Given the description of an element on the screen output the (x, y) to click on. 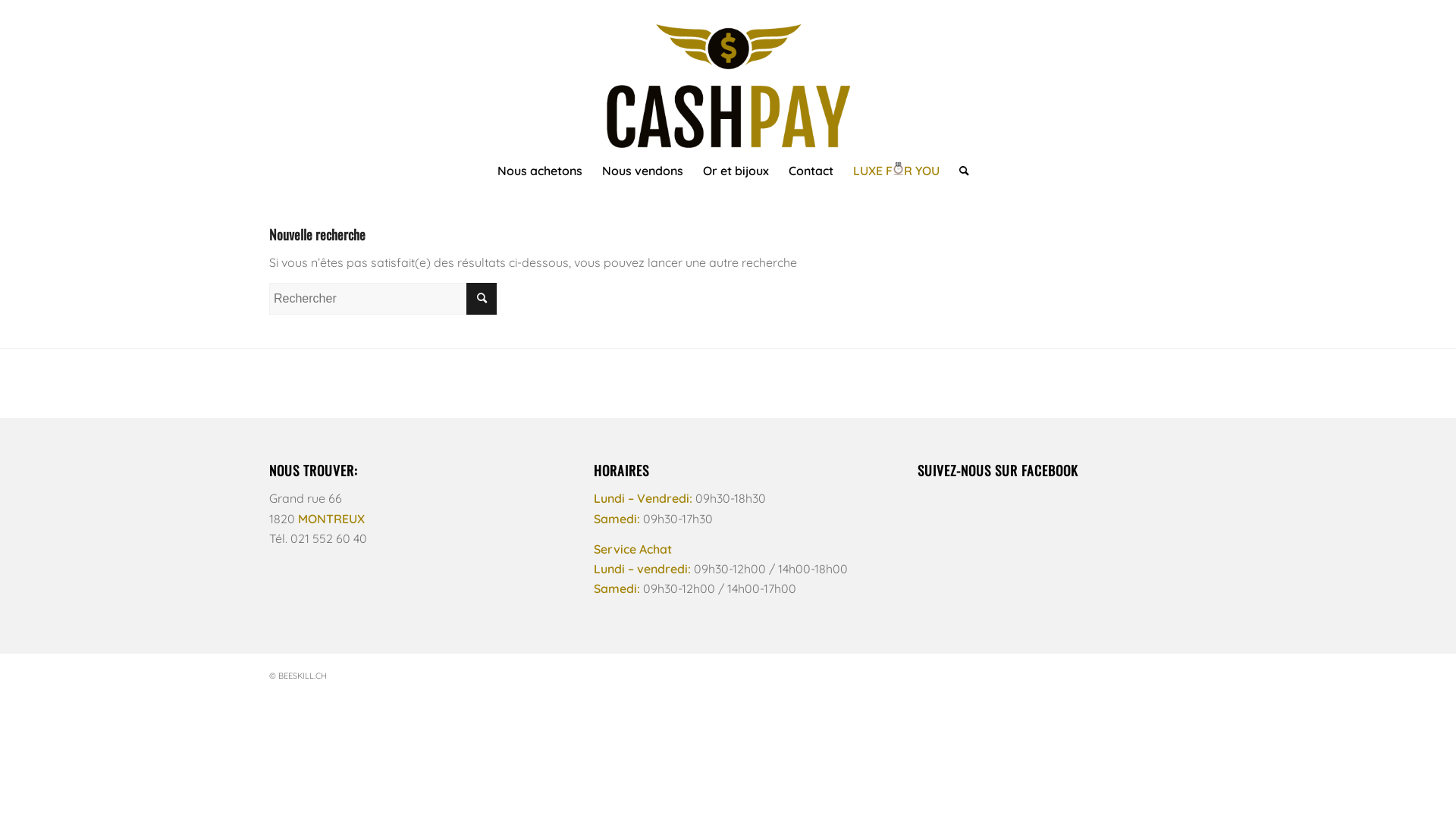
Or et bijoux Element type: text (735, 170)
CASHPAY_2018_positif Element type: hover (727, 75)
Contact Element type: text (810, 170)
Nous achetons Element type: text (538, 170)
LUXE FR YOU Element type: text (896, 170)
Nous vendons Element type: text (641, 170)
